Given the description of an element on the screen output the (x, y) to click on. 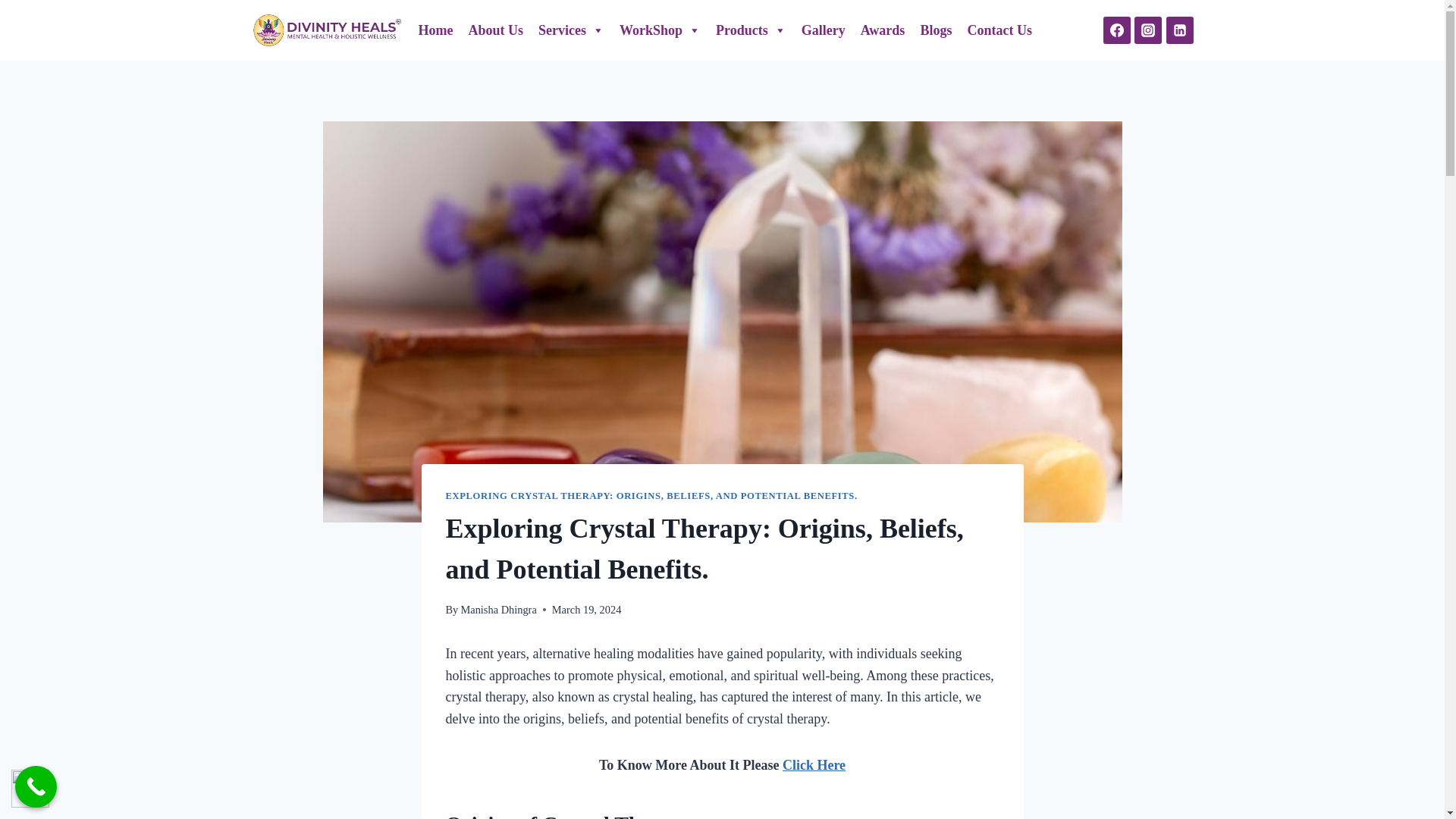
Services (571, 30)
Home (435, 30)
About Us (495, 30)
